Given the description of an element on the screen output the (x, y) to click on. 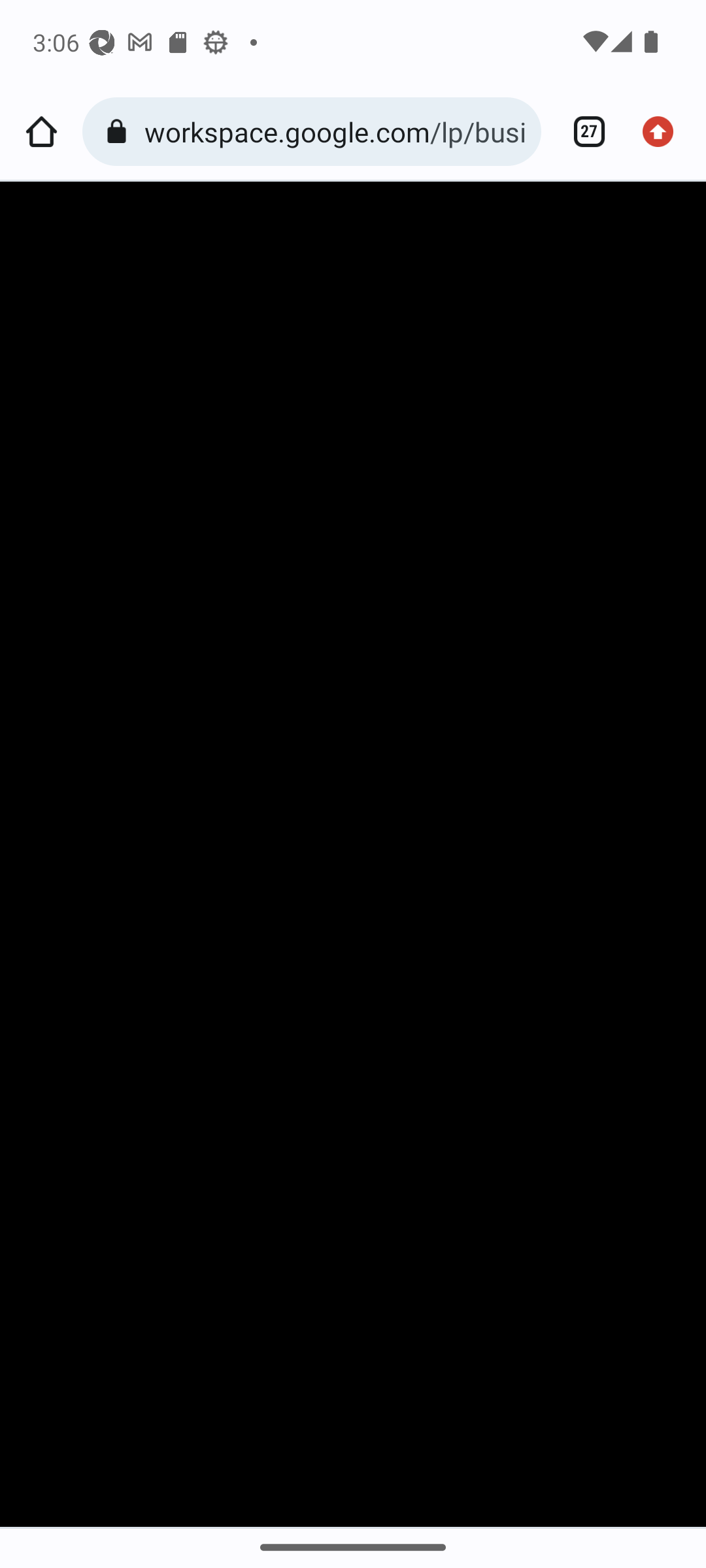
Home (41, 131)
Connection is secure (120, 131)
Switch or close tabs (582, 131)
Update available. More options (664, 131)
